Given the description of an element on the screen output the (x, y) to click on. 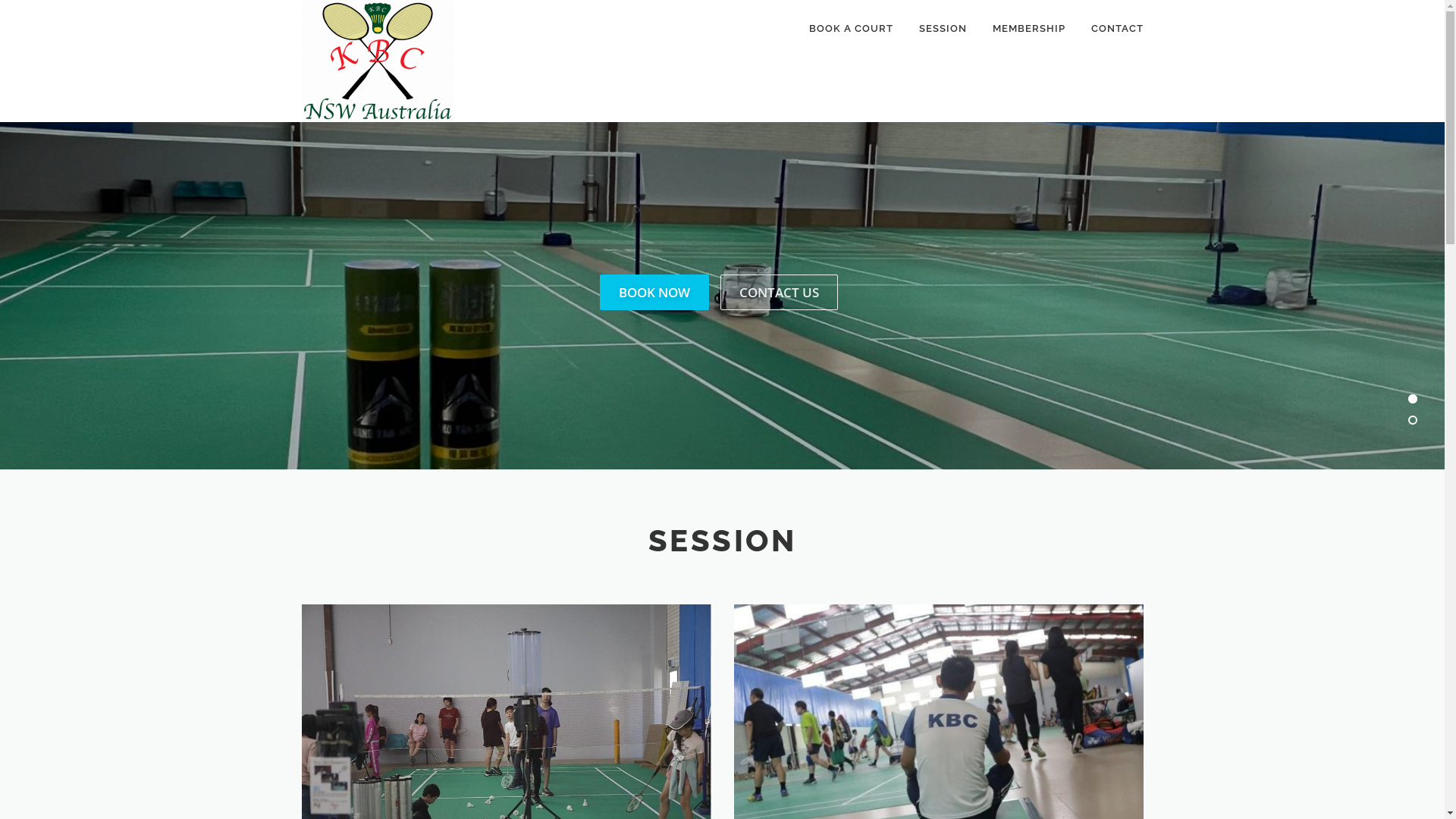
MEMBERSHIP Element type: text (1028, 28)
SESSION Element type: text (942, 28)
CONTACT Element type: text (1110, 28)
BOOK NOW Element type: text (653, 292)
BOOK A COURT Element type: text (851, 28)
CONTACT US Element type: text (778, 292)
